Given the description of an element on the screen output the (x, y) to click on. 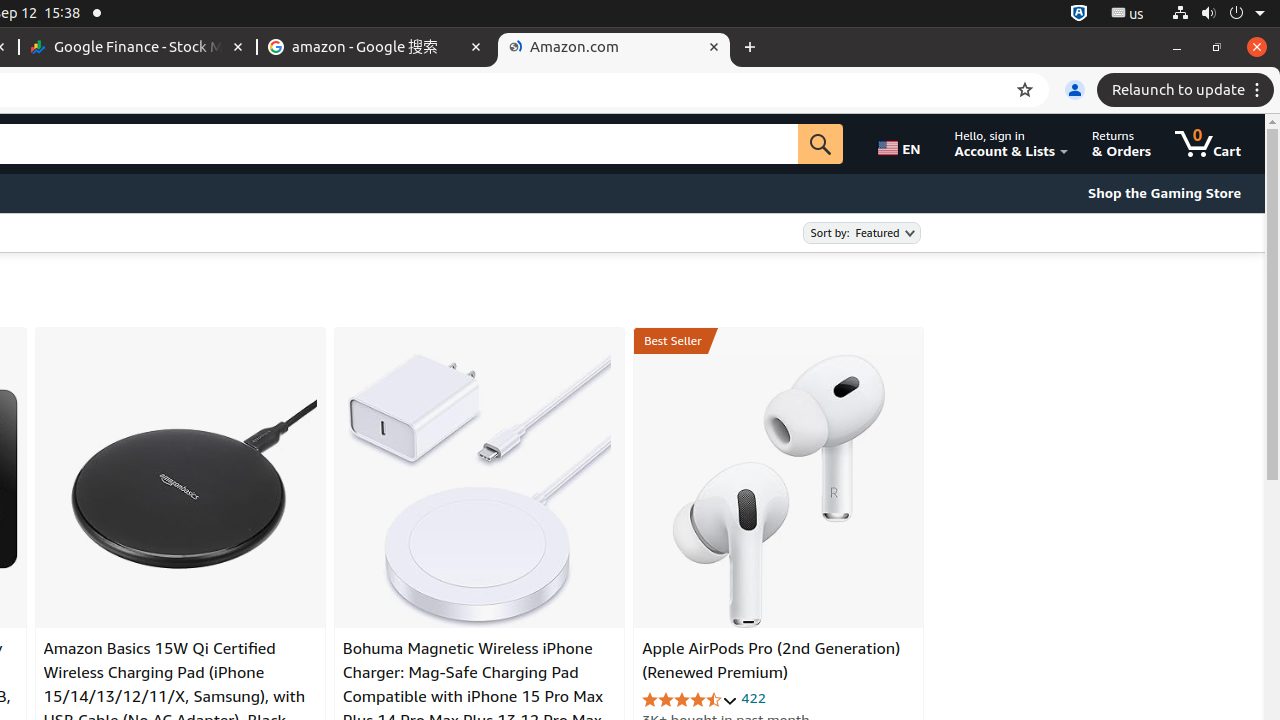
Amazon.com Element type: page-tab (614, 47)
You Element type: push-button (1075, 90)
Hello, sign in Account & Lists Element type: link (1011, 144)
Go Element type: push-button (821, 144)
Bohuma Magnetic Wireless iPhone Charger: Mag-Safe Charging Pad Compatible with iPhone 15 Pro Max Plus 14 Pro Max Plus 13 1... Element type: link (479, 491)
